Given the description of an element on the screen output the (x, y) to click on. 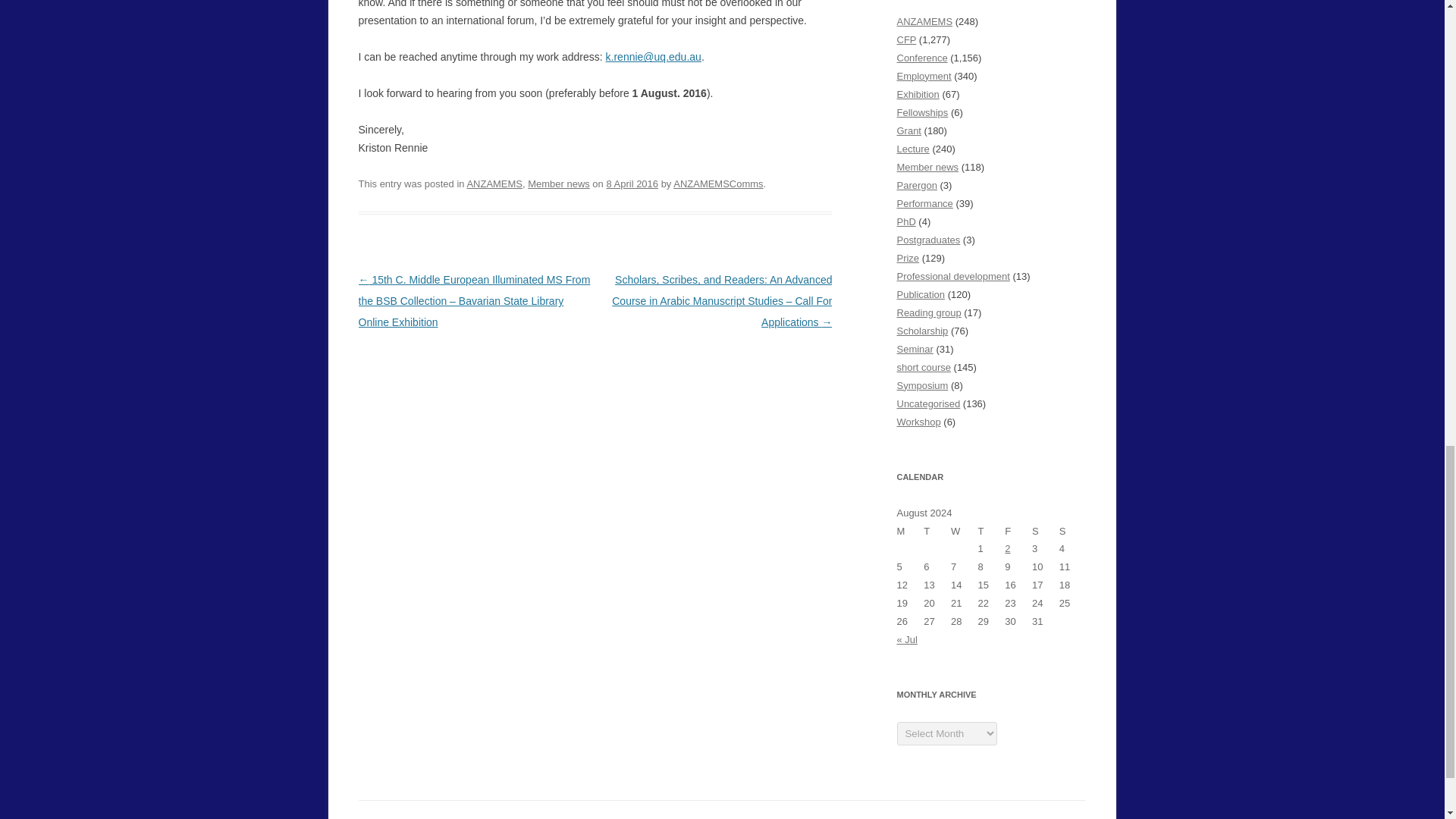
ANZAMEMSComms (717, 183)
Member news (558, 183)
Friday (1018, 530)
8 April 2016 (631, 183)
Wednesday (964, 530)
Sunday (1072, 530)
11:00 am (631, 183)
Saturday (1045, 530)
Thursday (992, 530)
View all posts by ANZAMEMSComms (717, 183)
